Given the description of an element on the screen output the (x, y) to click on. 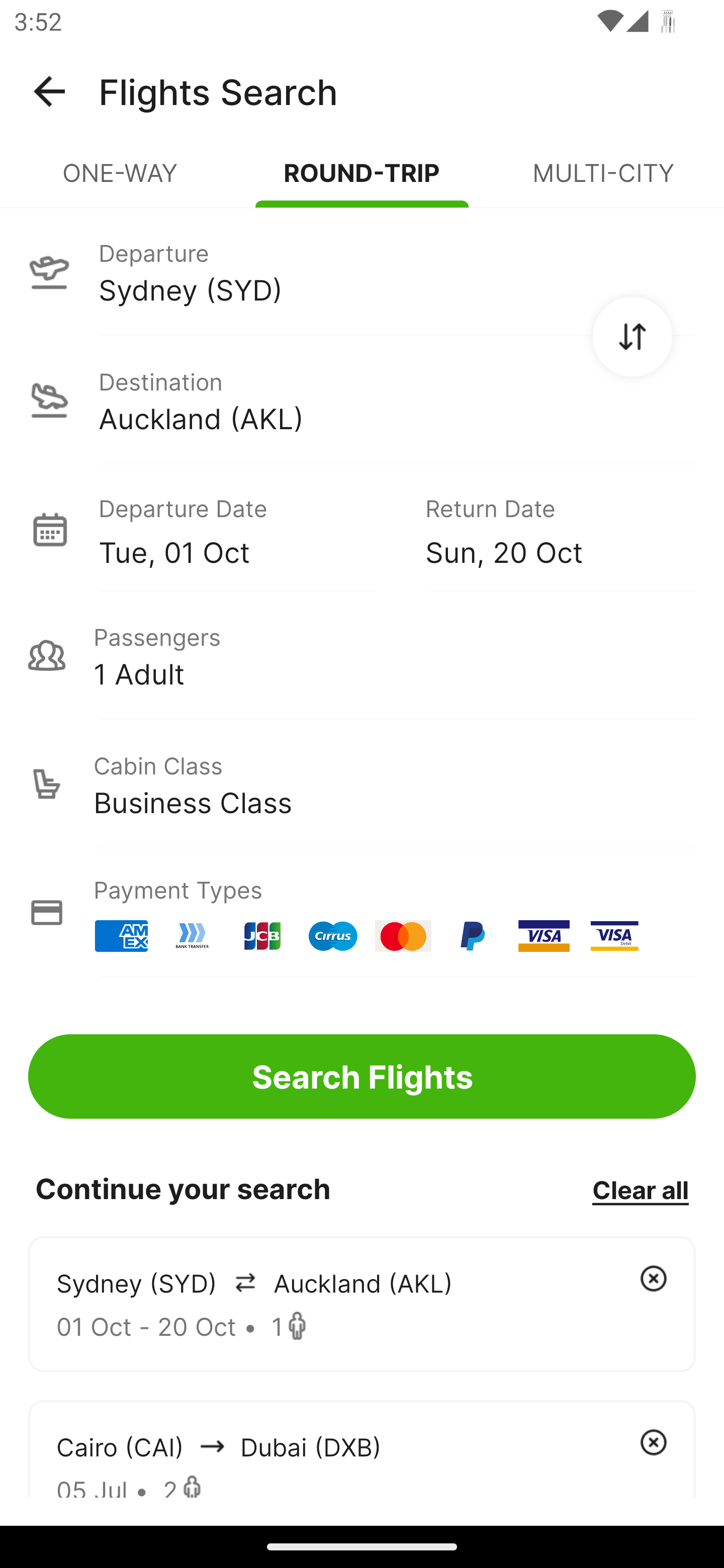
ONE-WAY (120, 180)
ROUND-TRIP (361, 180)
MULTI-CITY (603, 180)
Departure Sydney (SYD) (362, 270)
Destination Auckland (AKL) (362, 400)
Departure Date Tue, 01 Oct (247, 528)
Return Date Sun, 20 Oct (546, 528)
Passengers 1 Adult (362, 655)
Cabin Class Business Class (362, 783)
Payment Types (362, 912)
Search Flights (361, 1075)
Clear all (640, 1189)
Cairo (CAI)  arrowIcon  Dubai (DXB) 05 Jul •  2  (361, 1448)
